Given the description of an element on the screen output the (x, y) to click on. 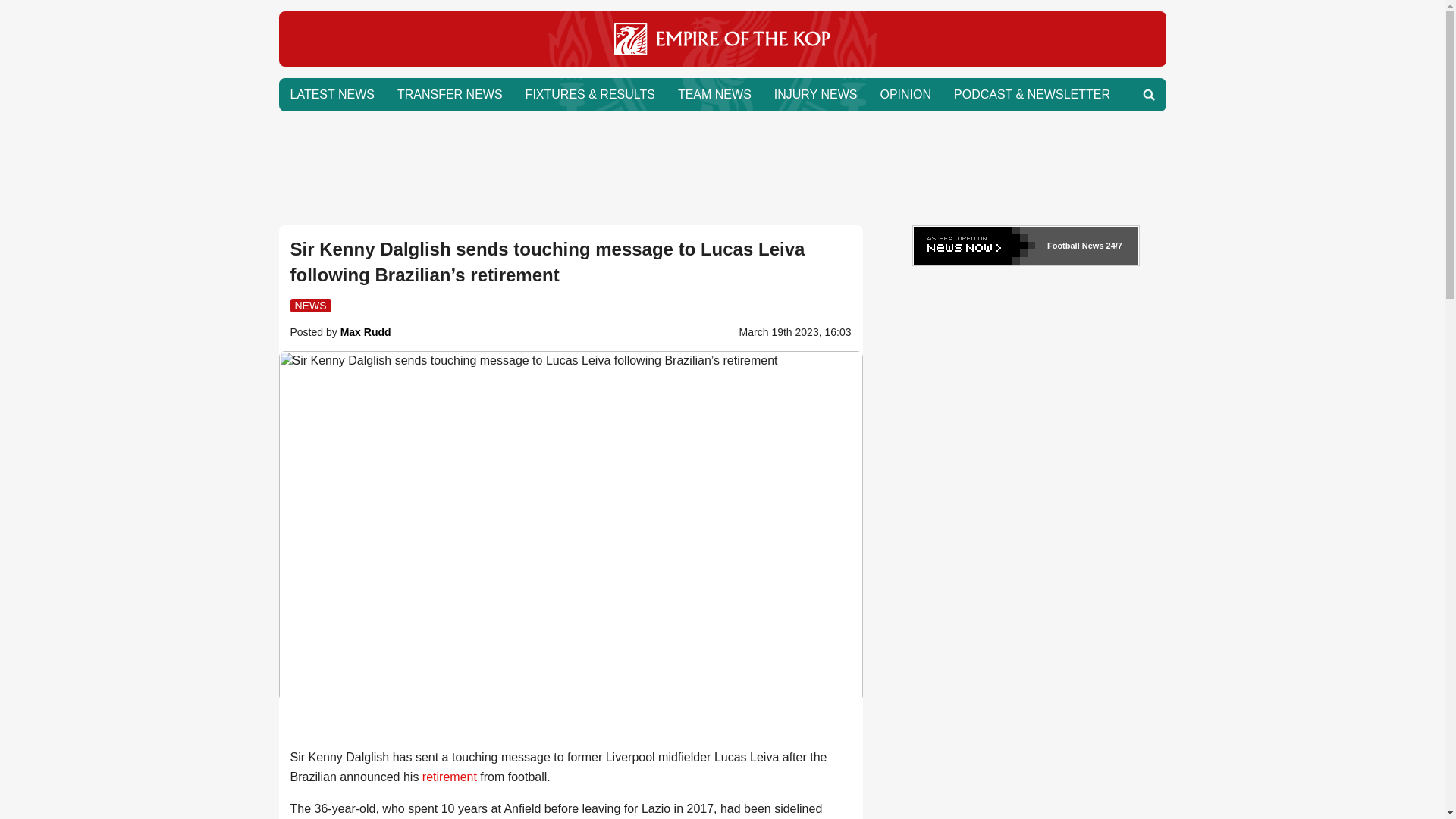
Liverpool News (721, 62)
retirement (449, 776)
Empire Of The Kop Podcast (1031, 94)
LATEST NEWS (332, 94)
TEAM NEWS (714, 94)
TRANSFER NEWS (449, 94)
OPINION (904, 94)
Search (1147, 94)
INJURY NEWS (815, 94)
Liverpool Opinion Pieces (904, 94)
